Given the description of an element on the screen output the (x, y) to click on. 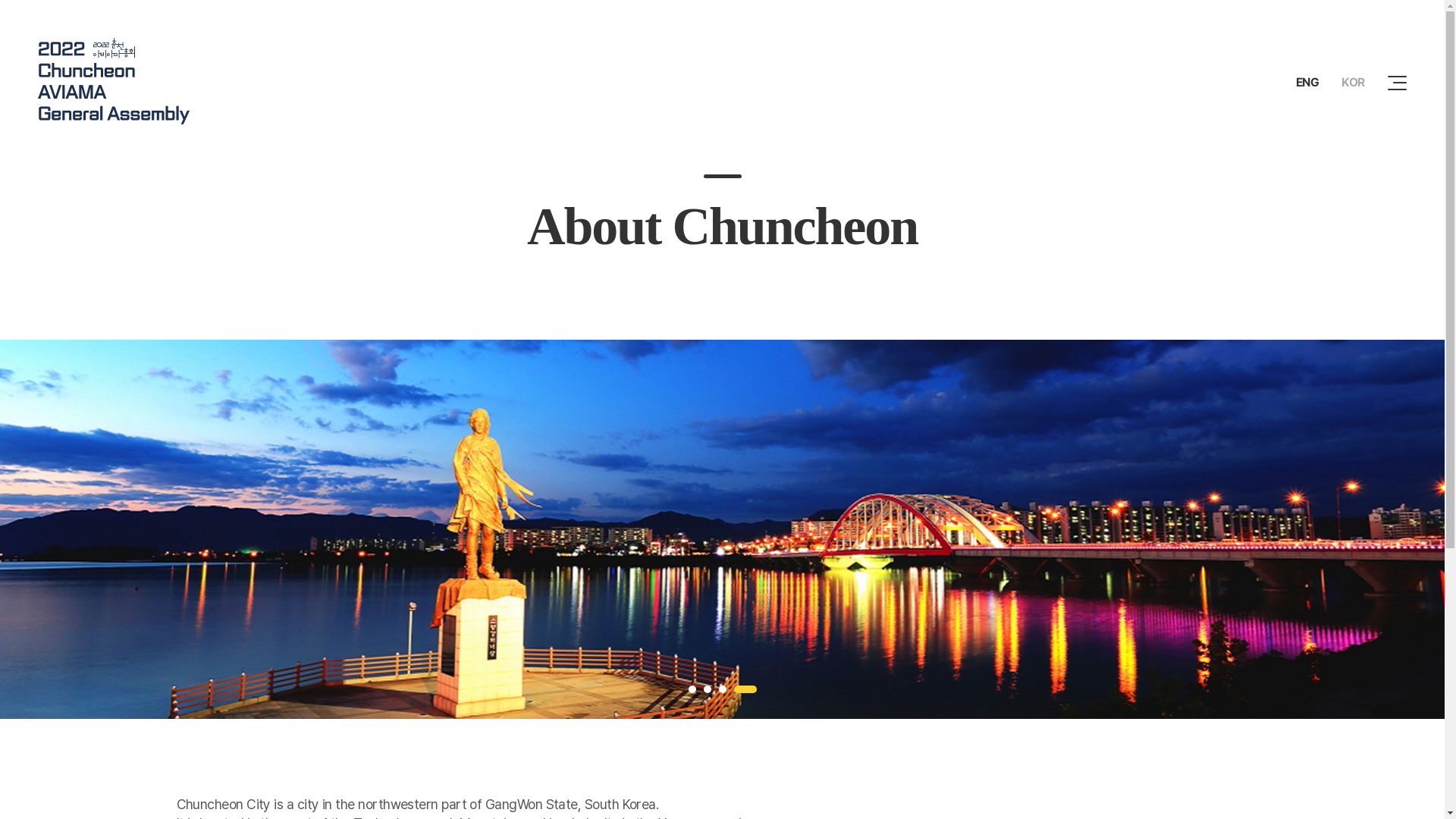
KOR Element type: text (1353, 82)
ENG Element type: text (1307, 82)
